Given the description of an element on the screen output the (x, y) to click on. 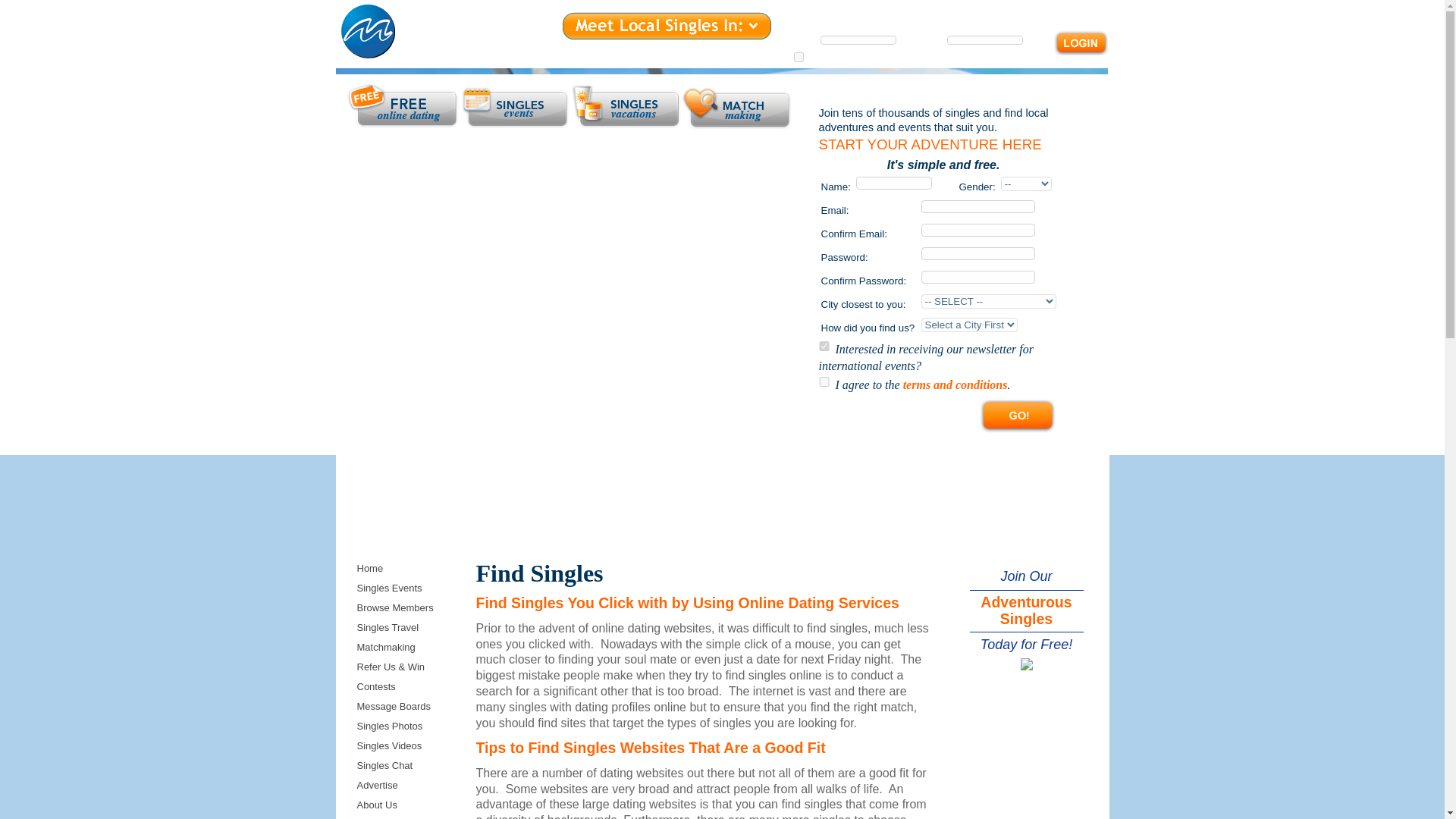
Forgot Your Password? (938, 60)
Click here to retreive your password. (938, 60)
Press (986, 14)
Advertise (938, 14)
About Us (883, 14)
Contact Us (1077, 14)
1 (823, 346)
1 (799, 57)
1 (823, 381)
FAQ's (1026, 14)
